Given the description of an element on the screen output the (x, y) to click on. 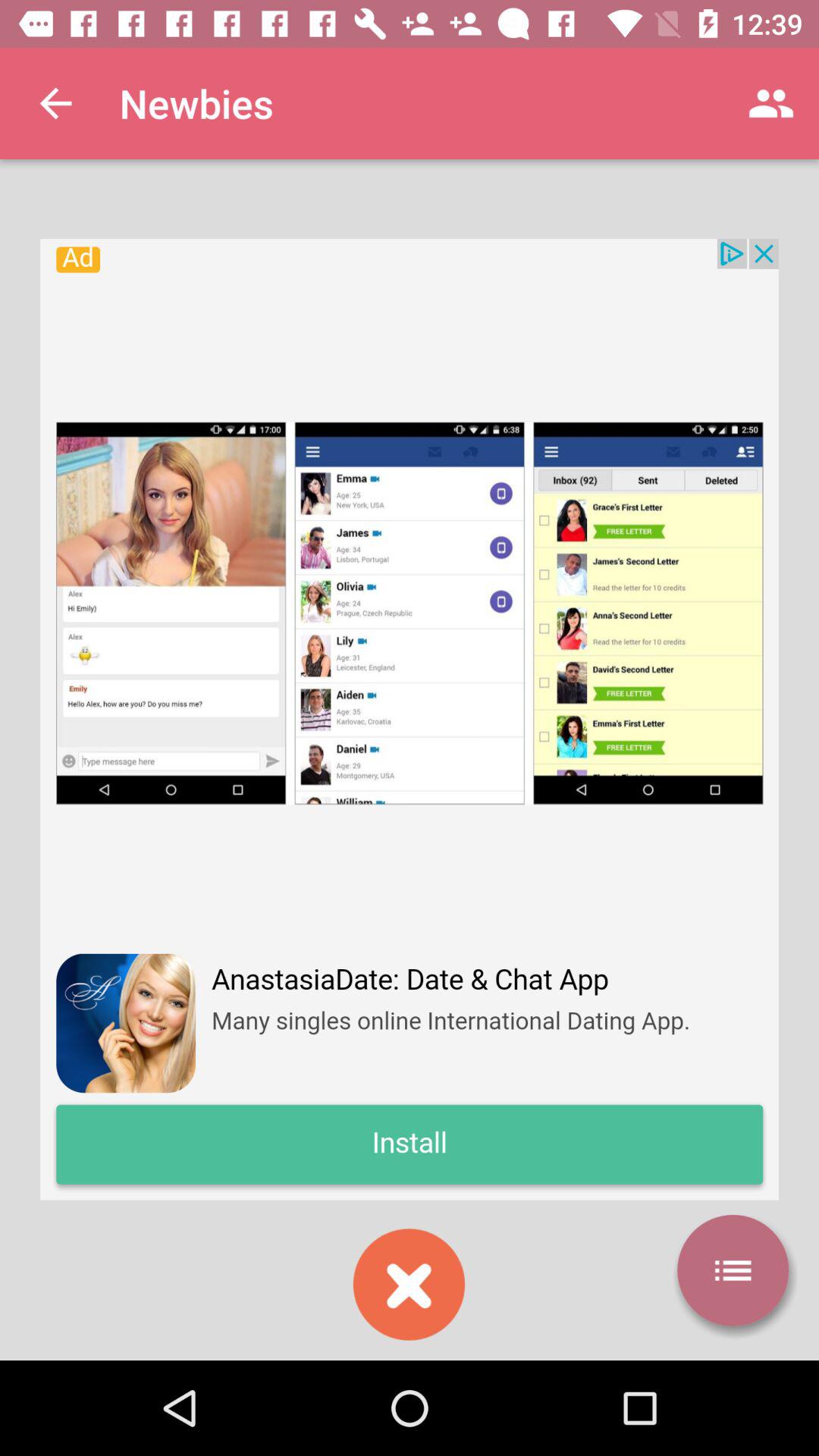
more option (733, 1270)
